Given the description of an element on the screen output the (x, y) to click on. 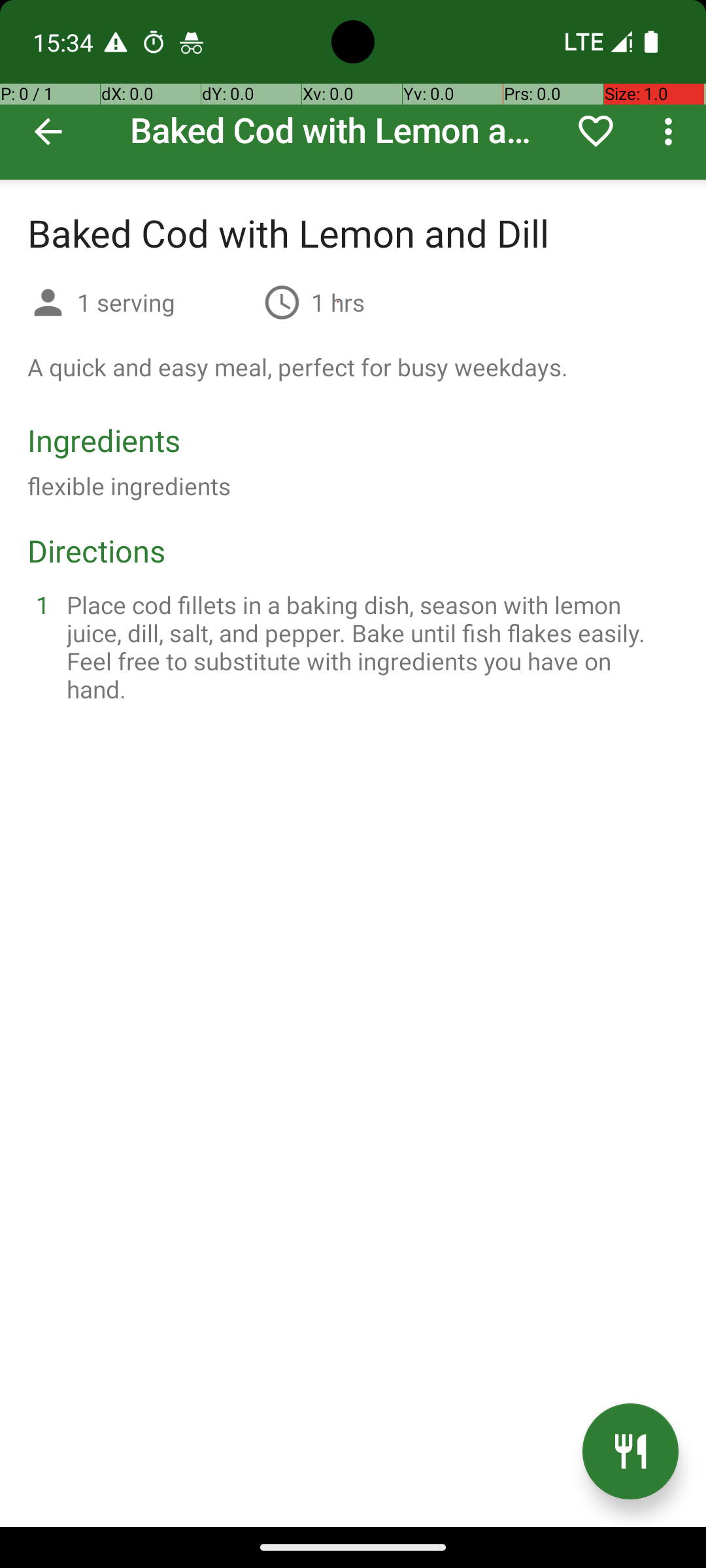
flexible ingredients Element type: android.widget.TextView (128, 485)
Place cod fillets in a baking dish, season with lemon juice, dill, salt, and pepper. Bake until fish flakes easily. Feel free to substitute with ingredients you have on hand. Element type: android.widget.TextView (368, 646)
